Given the description of an element on the screen output the (x, y) to click on. 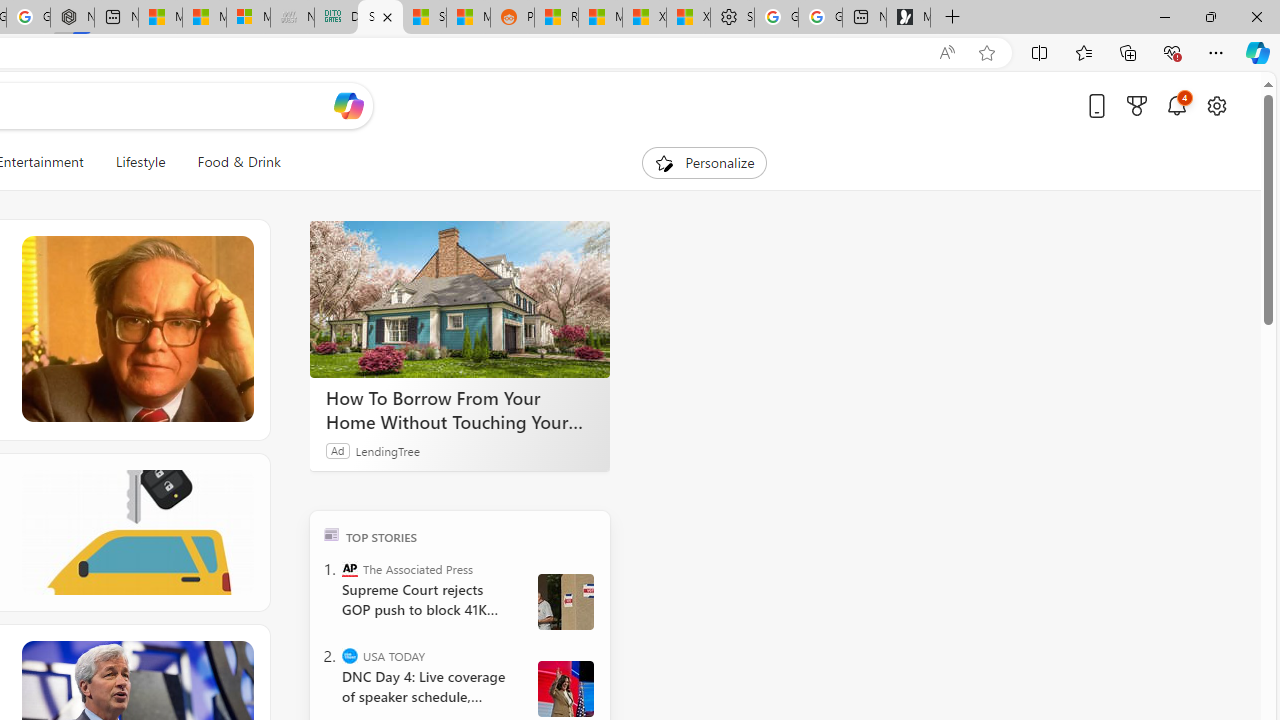
Nordace - Nordace Siena Is Not An Ordinary Backpack (72, 17)
Navy Quest (292, 17)
MSN (468, 17)
Notifications (1176, 105)
Lifestyle (139, 162)
How To Borrow From Your Home Without Touching Your Mortgage (459, 409)
